Given the description of an element on the screen output the (x, y) to click on. 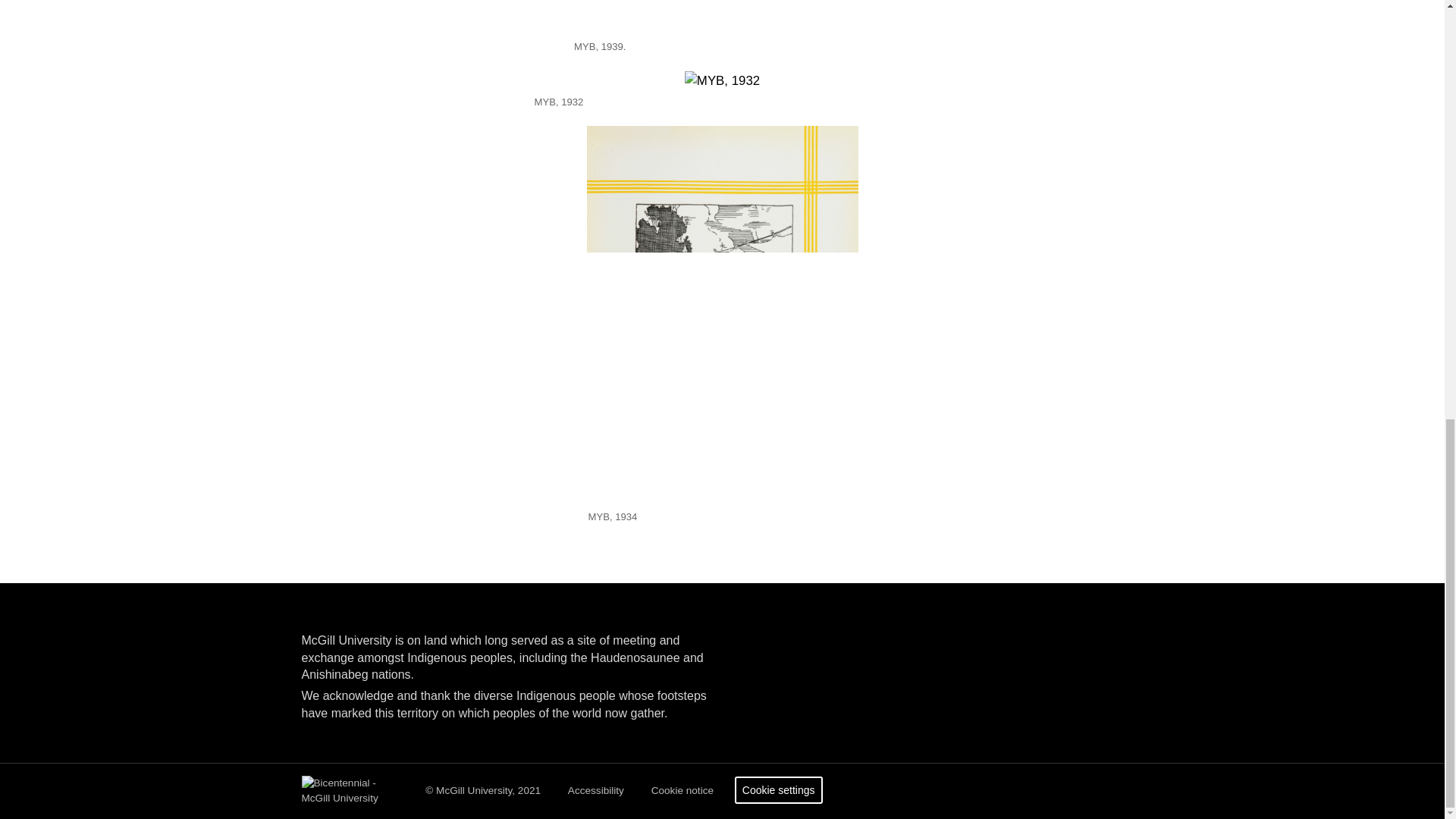
Accessibility (595, 790)
Cookie settings (778, 789)
Cookie notice (681, 790)
